Given the description of an element on the screen output the (x, y) to click on. 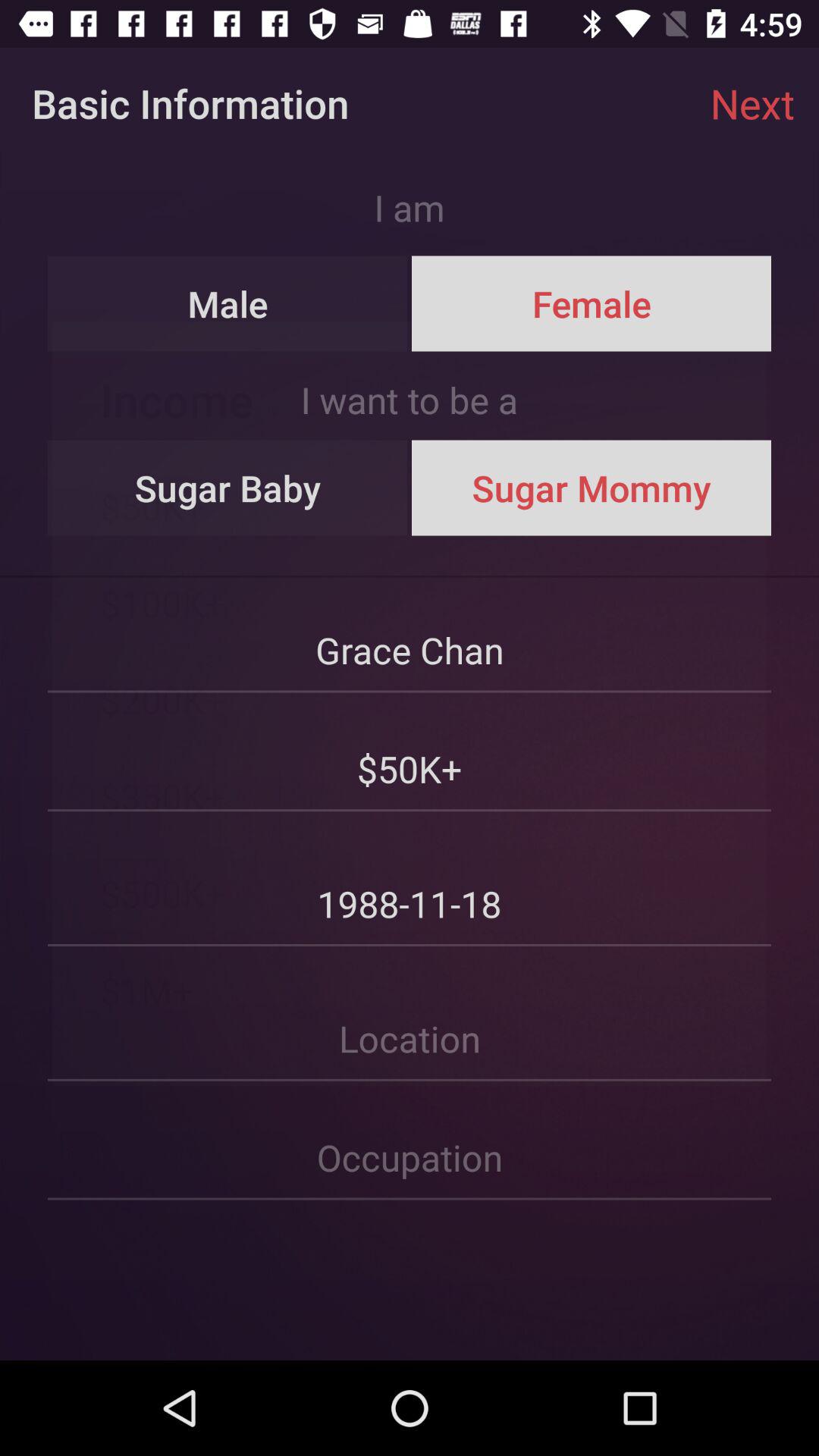
view occupation (409, 1141)
